Given the description of an element on the screen output the (x, y) to click on. 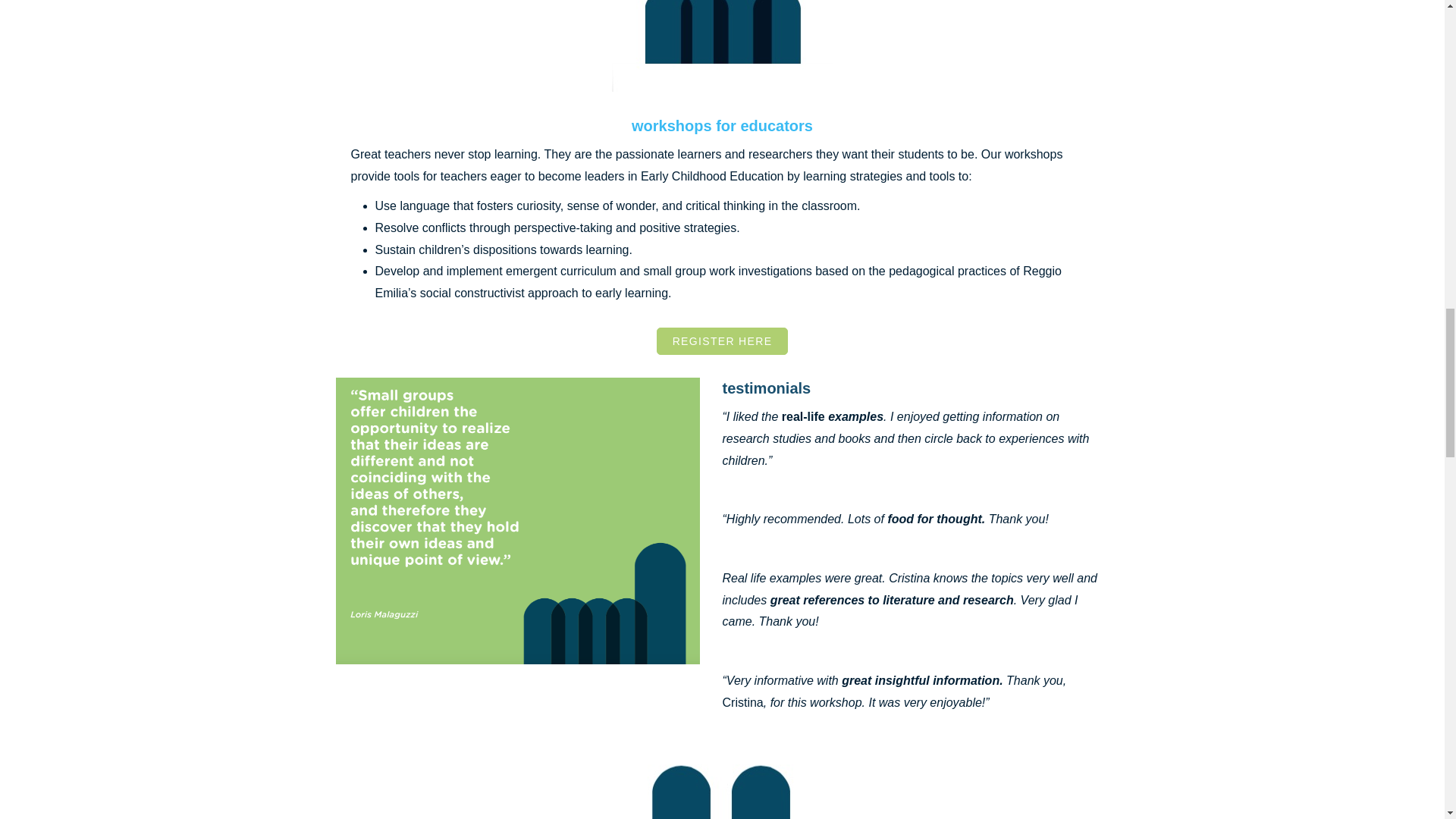
REGISTER HERE (722, 340)
workshops for educators (721, 125)
On on One icon (721, 785)
Screen Shot 2017-10-10 at 3.12.53 PM (516, 520)
teachers icon (721, 45)
